Given the description of an element on the screen output the (x, y) to click on. 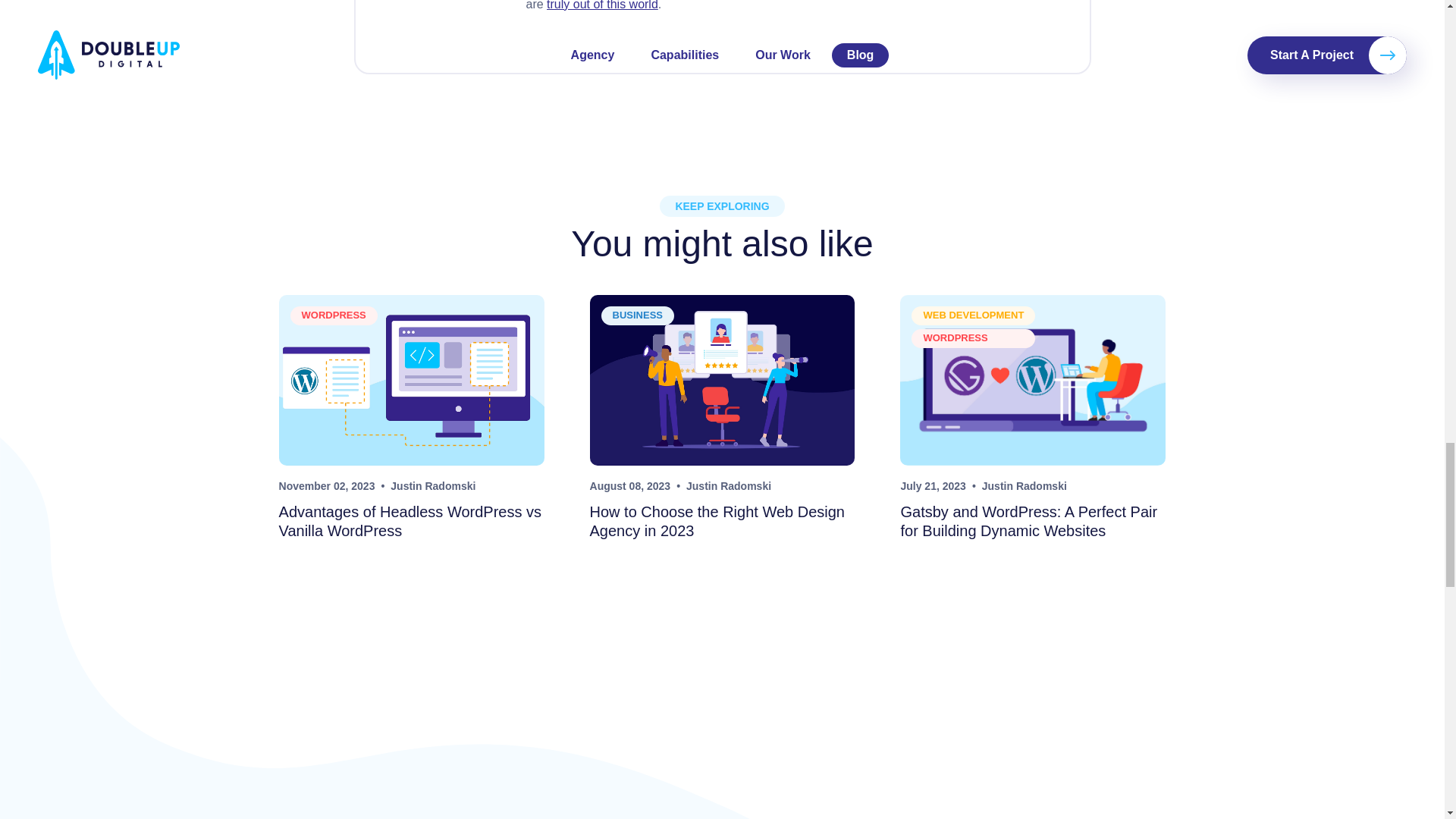
truly out of this world (602, 5)
Advantages of Headless WordPress vs Vanilla WordPress (410, 520)
How to Choose the Right Web Design Agency in 2023 (716, 520)
